Given the description of an element on the screen output the (x, y) to click on. 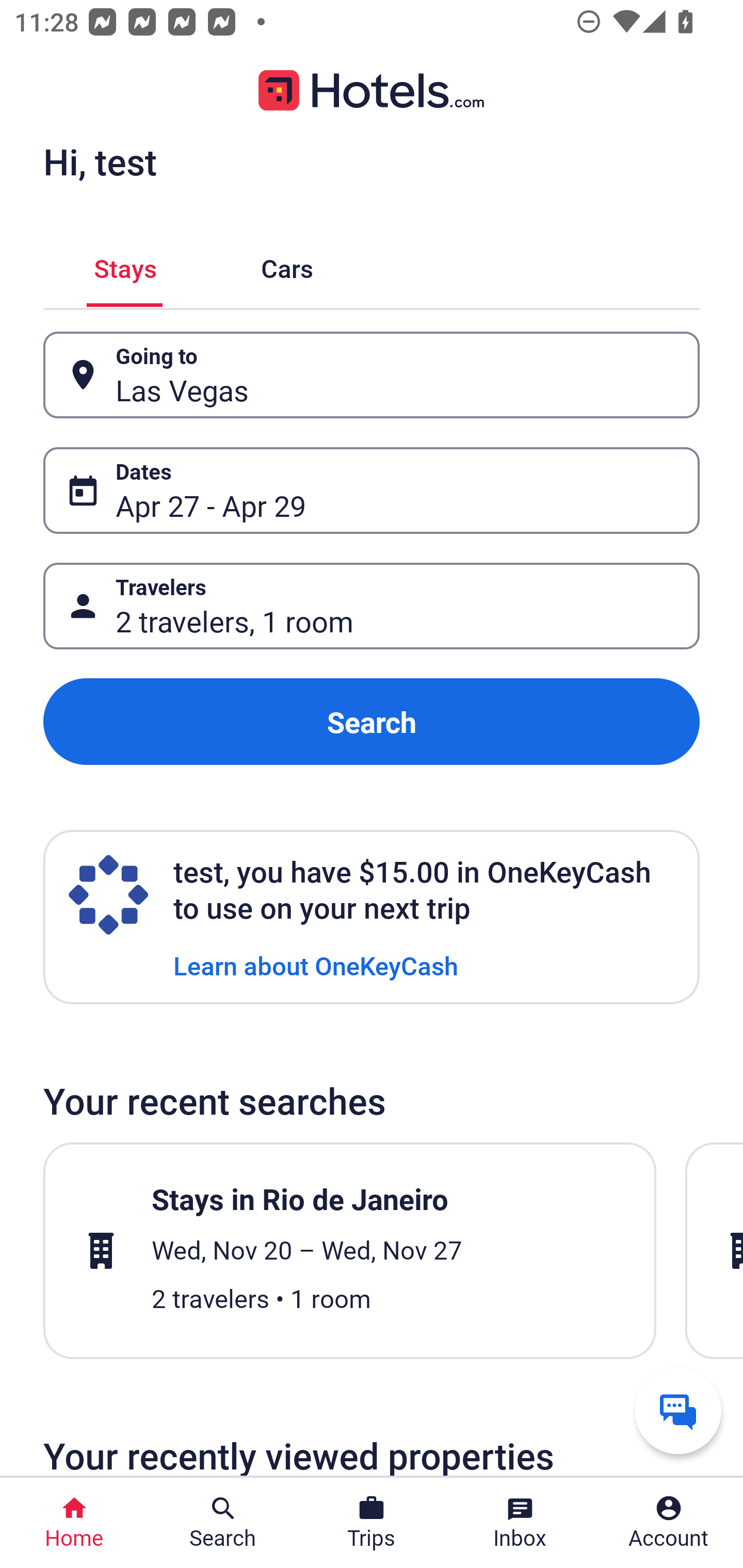
Hi, test (99, 161)
Cars (286, 265)
Going to Button Las Vegas (371, 375)
Dates Button Apr 27 - Apr 29 (371, 489)
Travelers Button 2 travelers, 1 room (371, 605)
Search (371, 721)
Learn about OneKeyCash Learn about OneKeyCash Link (315, 964)
Get help from a virtual agent (677, 1410)
Search Search Button (222, 1522)
Trips Trips Button (371, 1522)
Inbox Inbox Button (519, 1522)
Account Profile. Button (668, 1522)
